Given the description of an element on the screen output the (x, y) to click on. 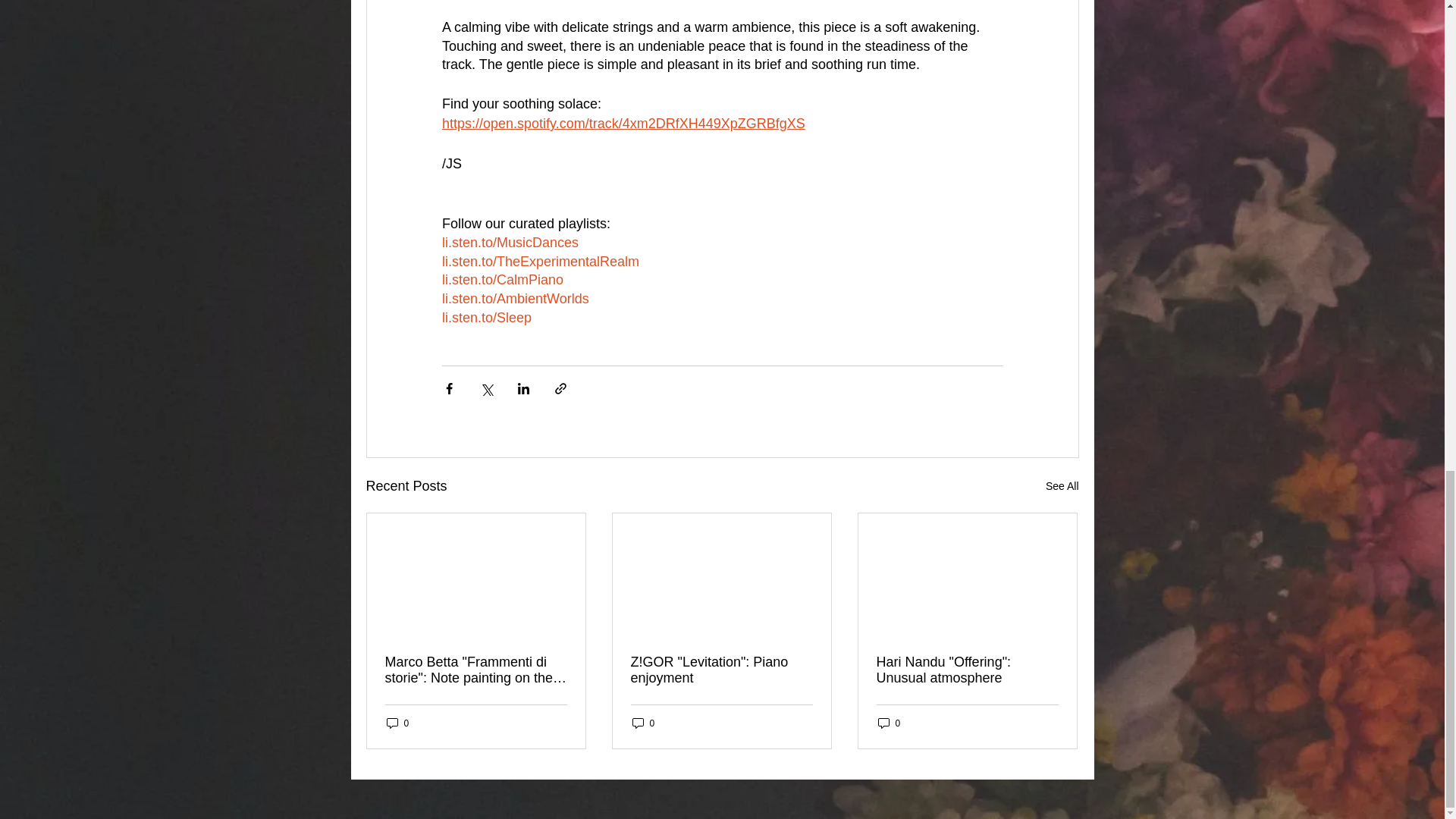
See All (1061, 486)
0 (643, 722)
Hari Nandu "Offering": Unusual atmosphere (967, 670)
0 (397, 722)
0 (889, 722)
Z!GOR "Levitation": Piano enjoyment (721, 670)
